Given the description of an element on the screen output the (x, y) to click on. 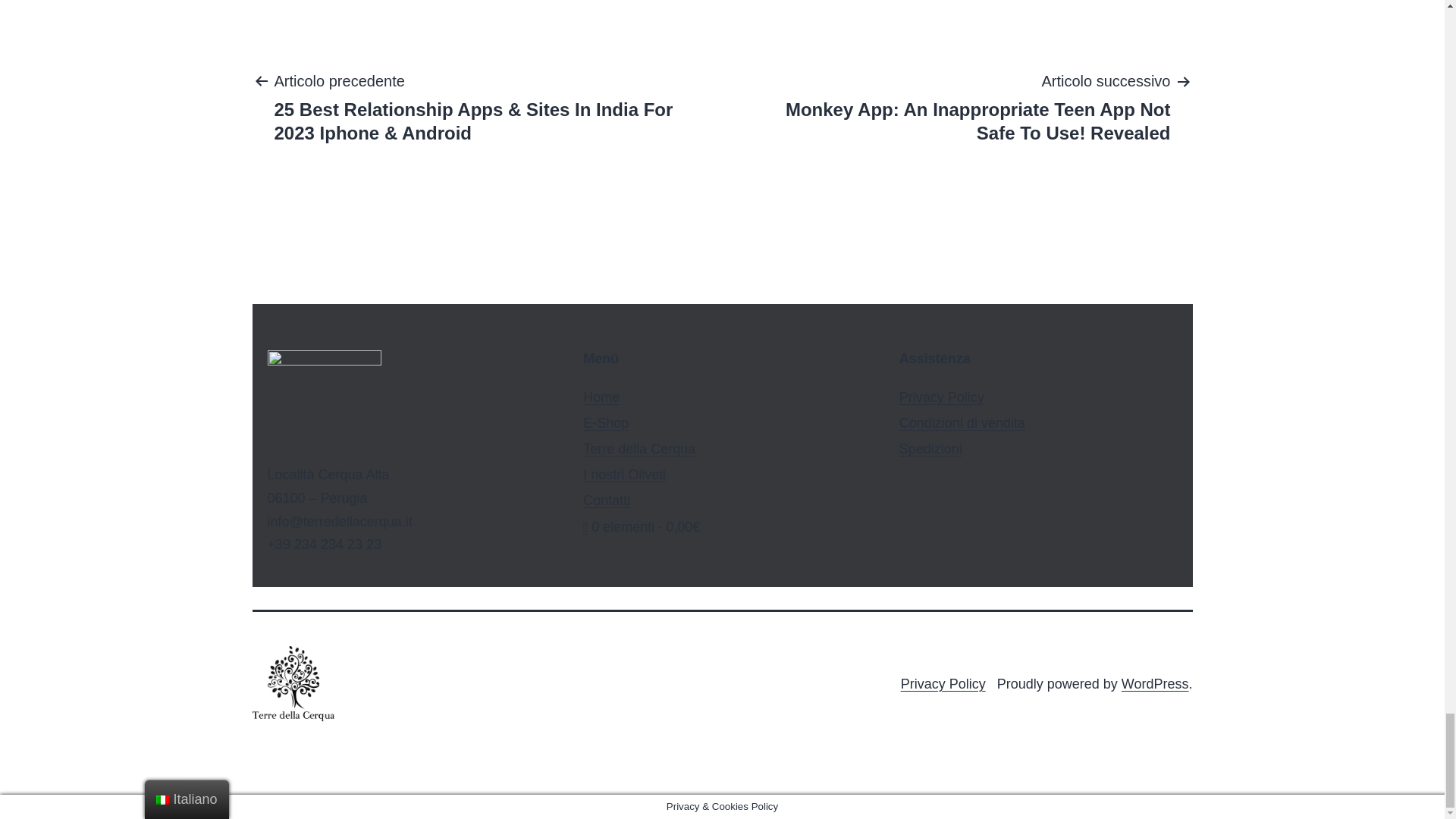
Privacy Policy (941, 396)
WordPress (1155, 683)
Home (601, 396)
Terre della Cerqua (639, 448)
I nostri Oliveti (624, 474)
E-Shop (605, 422)
Vai al negozio (641, 526)
Condizioni di vendita (962, 422)
Contatti (606, 500)
